Given the description of an element on the screen output the (x, y) to click on. 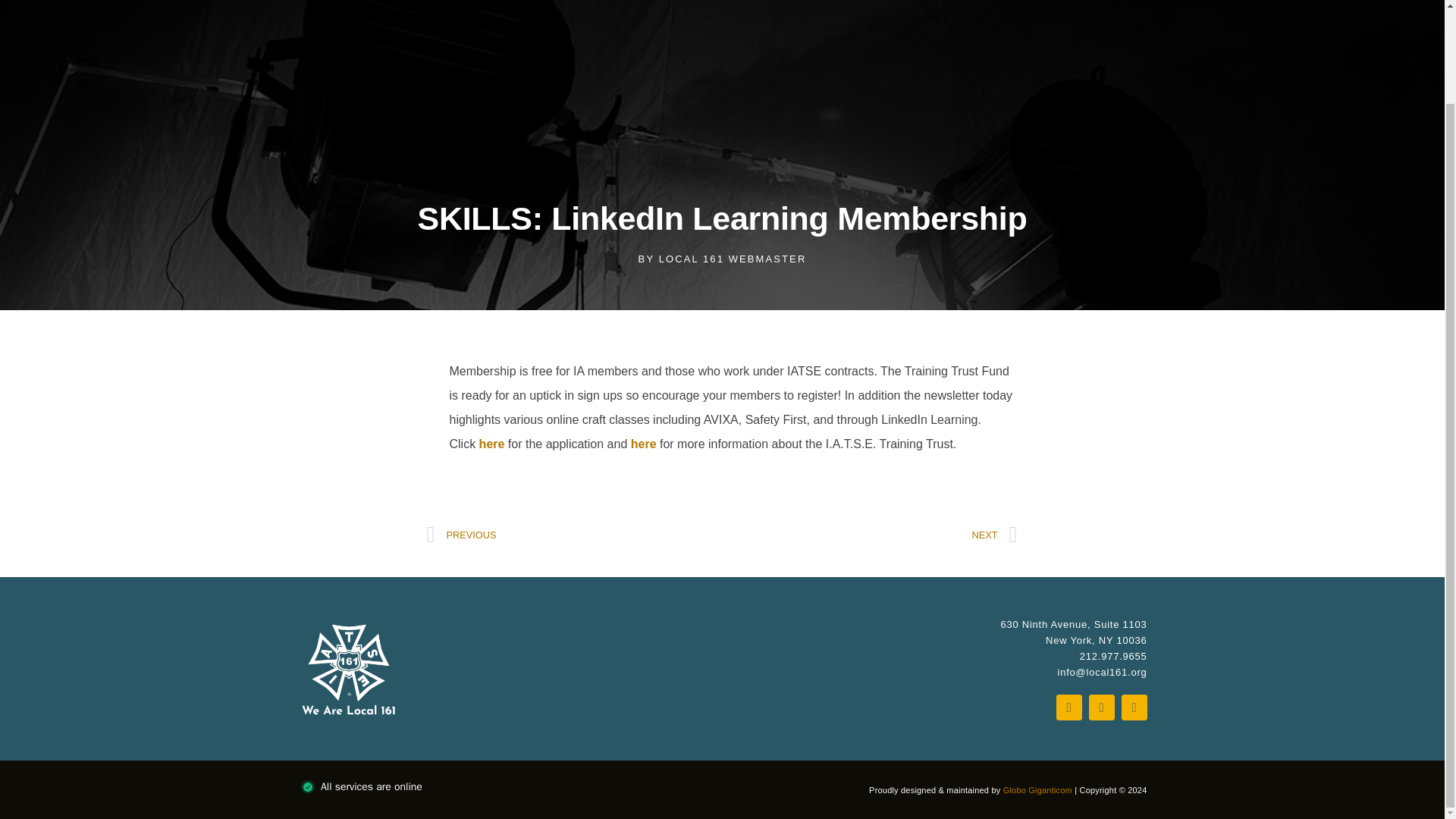
PREVIOUS (574, 535)
here (643, 443)
here (492, 443)
Globo Giganticom (1037, 789)
BY LOCAL 161 WEBMASTER (722, 259)
NEXT (869, 535)
